Given the description of an element on the screen output the (x, y) to click on. 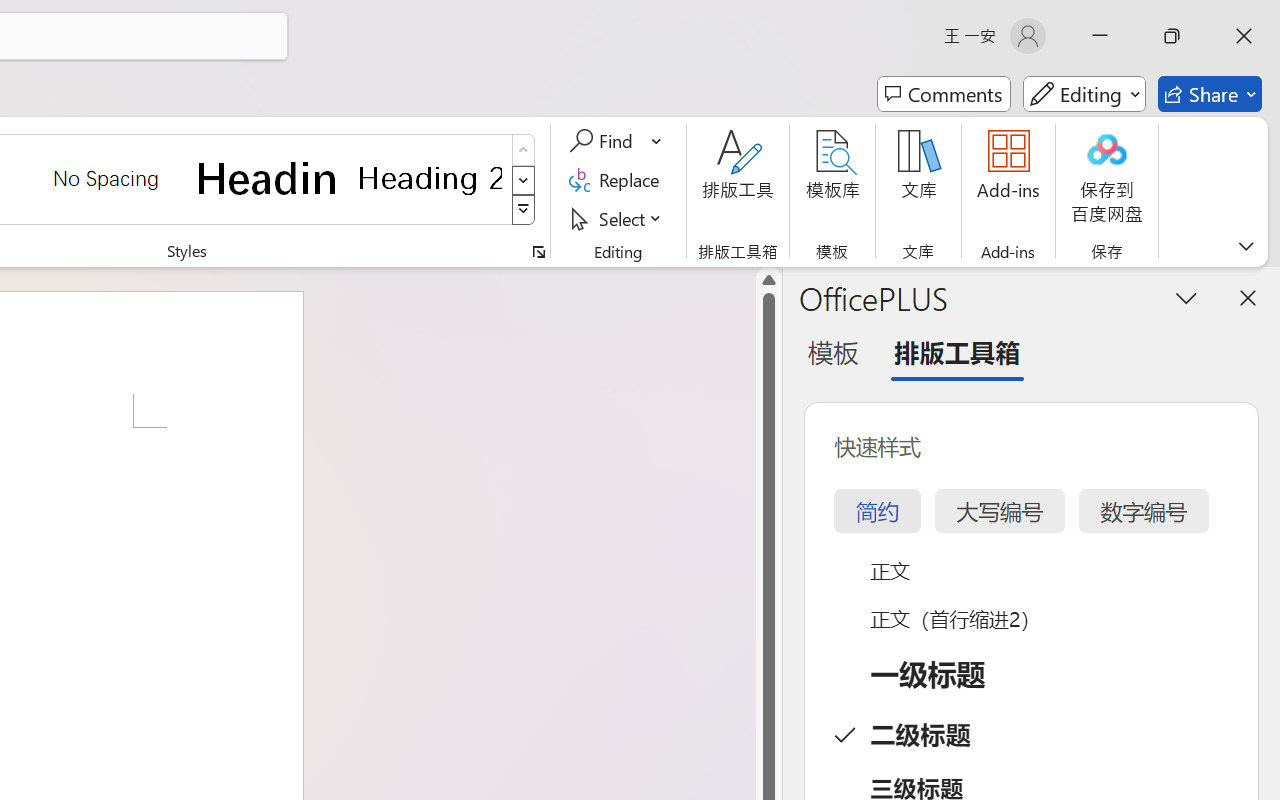
Line up (769, 279)
